Given the description of an element on the screen output the (x, y) to click on. 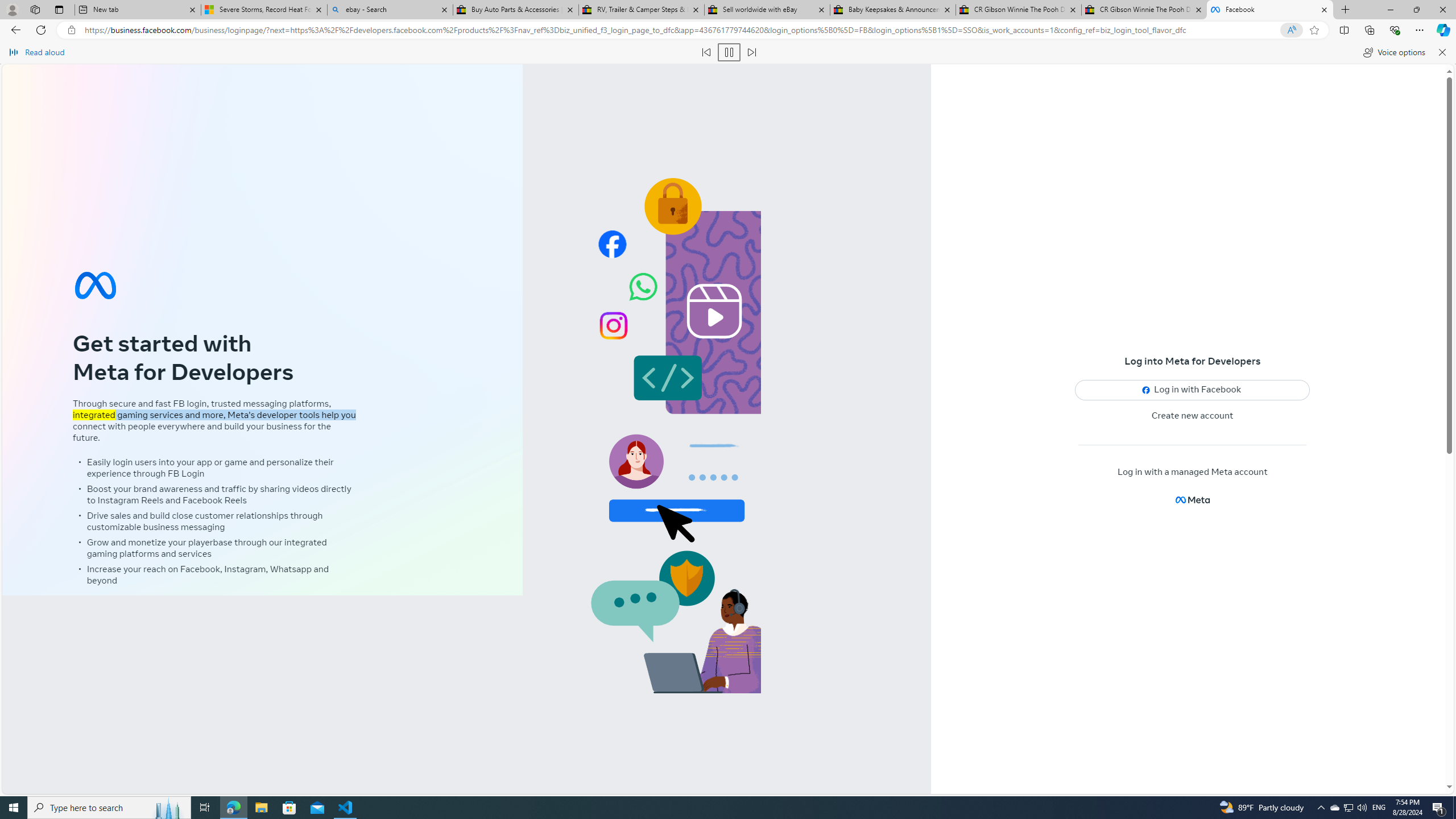
Log in with Facebook (1192, 389)
Close read aloud (1441, 52)
Meta logo (1191, 499)
Log in with a managed Meta account (1192, 471)
